Given the description of an element on the screen output the (x, y) to click on. 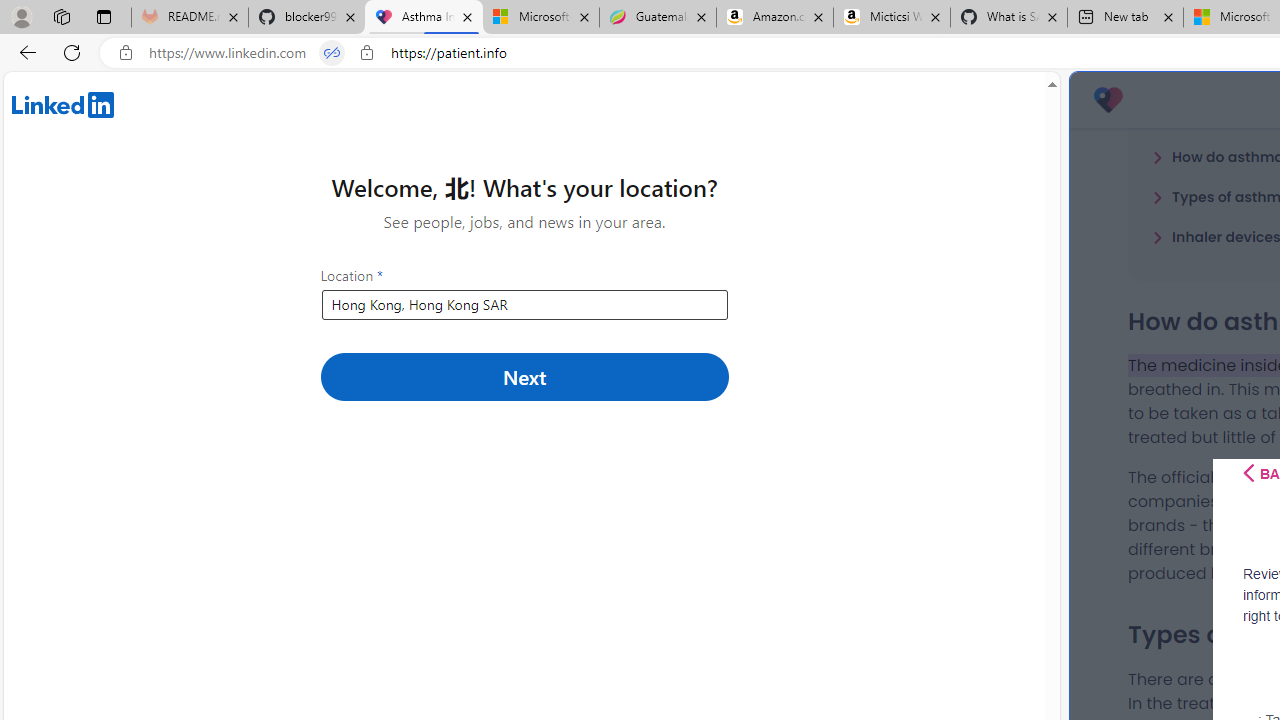
Asthma Inhalers: Names and Types (424, 17)
Class: css-i5klq5 (1248, 473)
Patient 3.0 (1108, 100)
Tabs in split screen (331, 53)
